Given the description of an element on the screen output the (x, y) to click on. 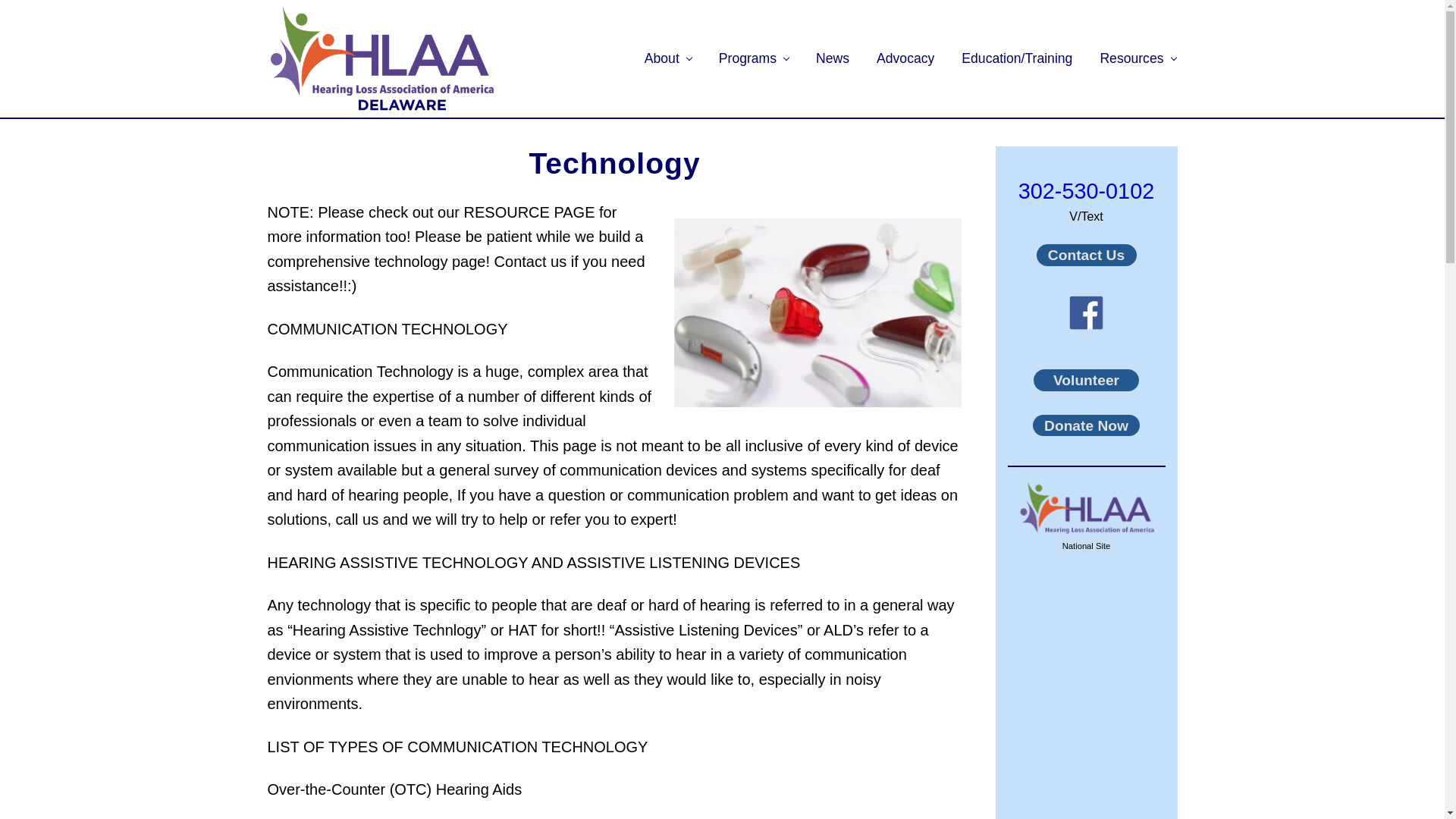
Volunteer!! (1085, 380)
Donate Now (1086, 425)
Programs (753, 57)
Advocacy (905, 57)
Resources (1137, 57)
News (832, 57)
Contact Us (1085, 255)
About (667, 57)
